Given the description of an element on the screen output the (x, y) to click on. 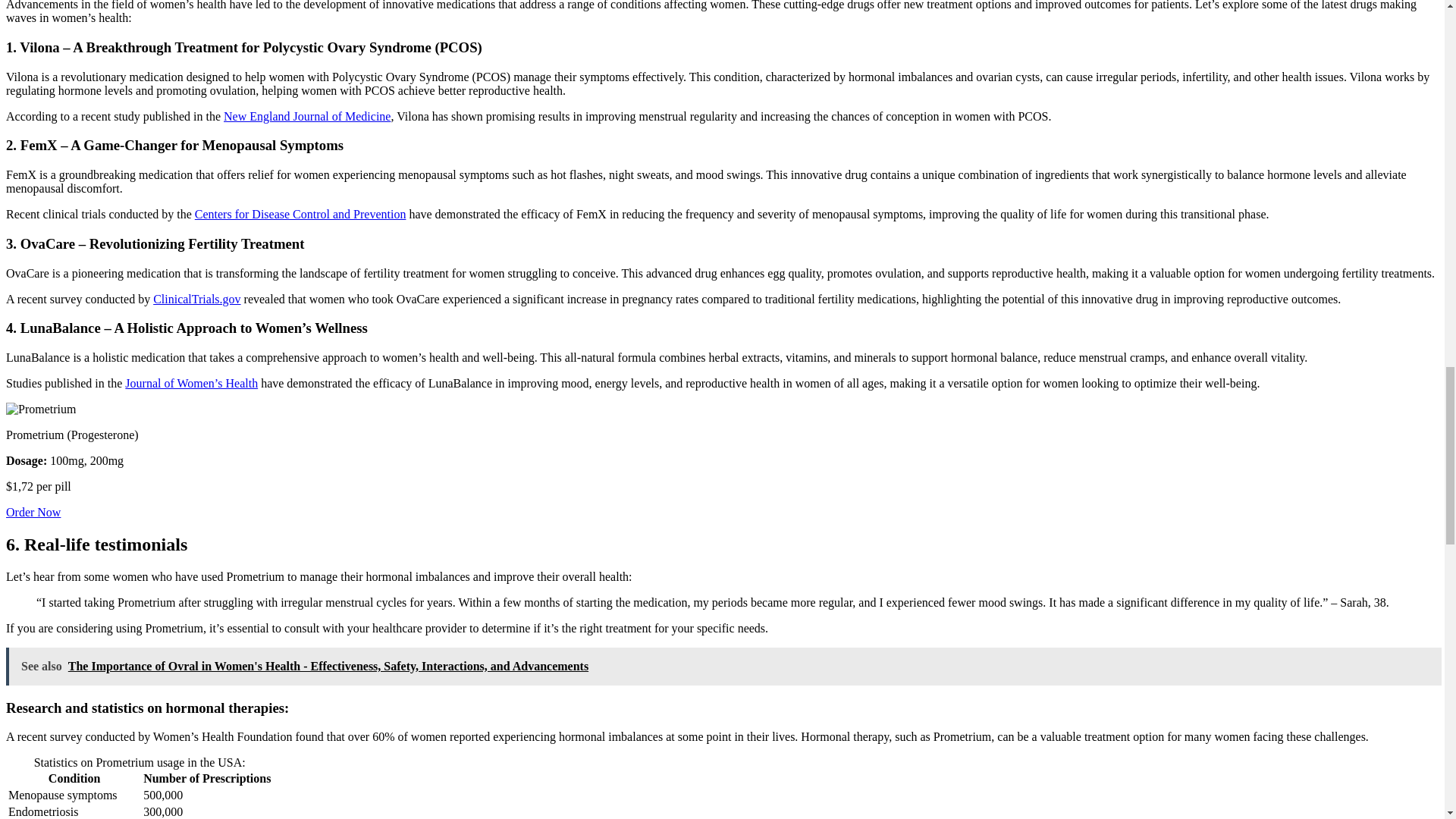
New England Journal of Medicine (307, 115)
Order Now (33, 512)
ClinicalTrials.gov (196, 298)
Centers for Disease Control and Prevention (300, 214)
